Given the description of an element on the screen output the (x, y) to click on. 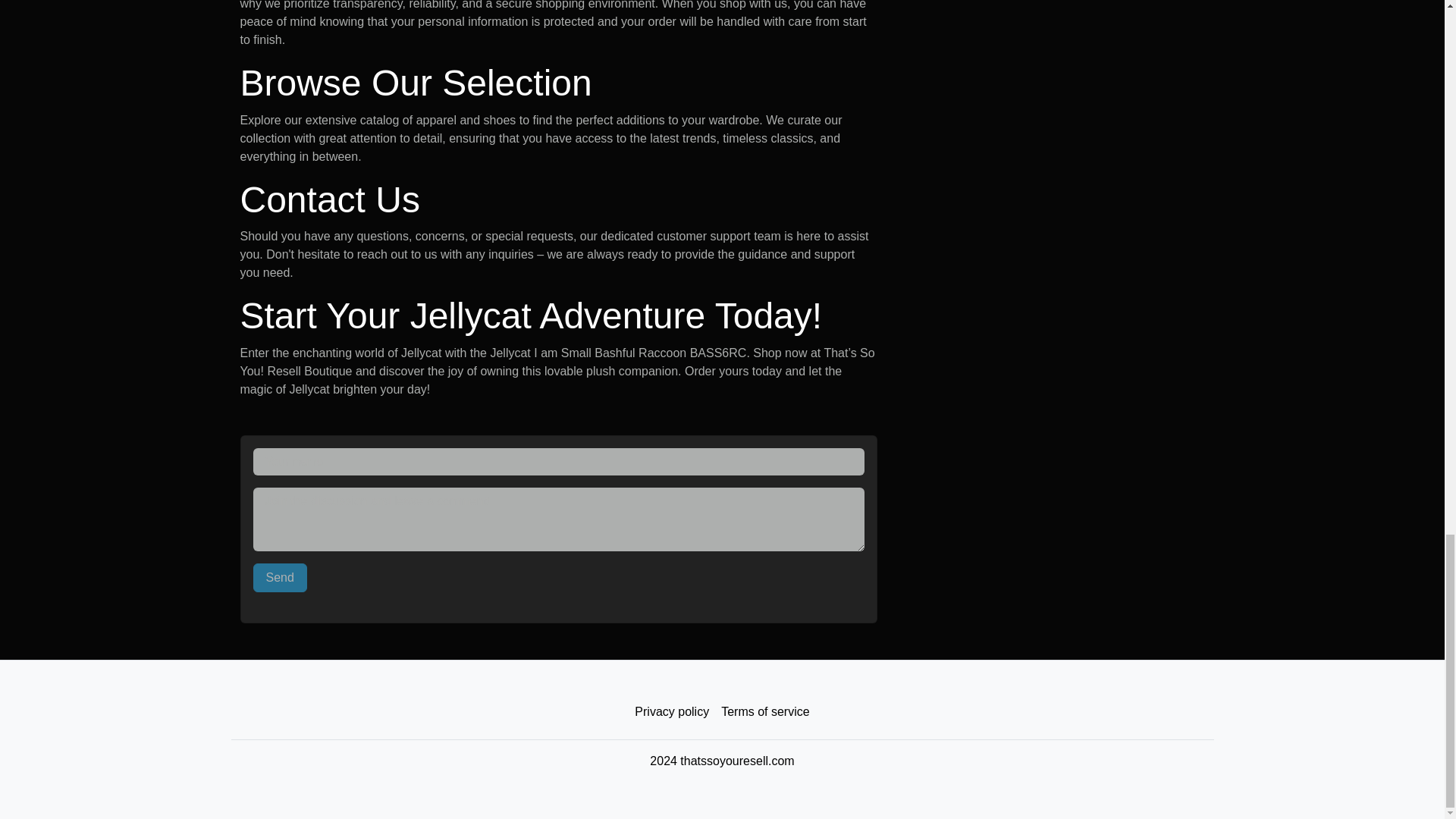
Terms of service (764, 711)
Send (280, 577)
Privacy policy (671, 711)
Send (280, 577)
